Given the description of an element on the screen output the (x, y) to click on. 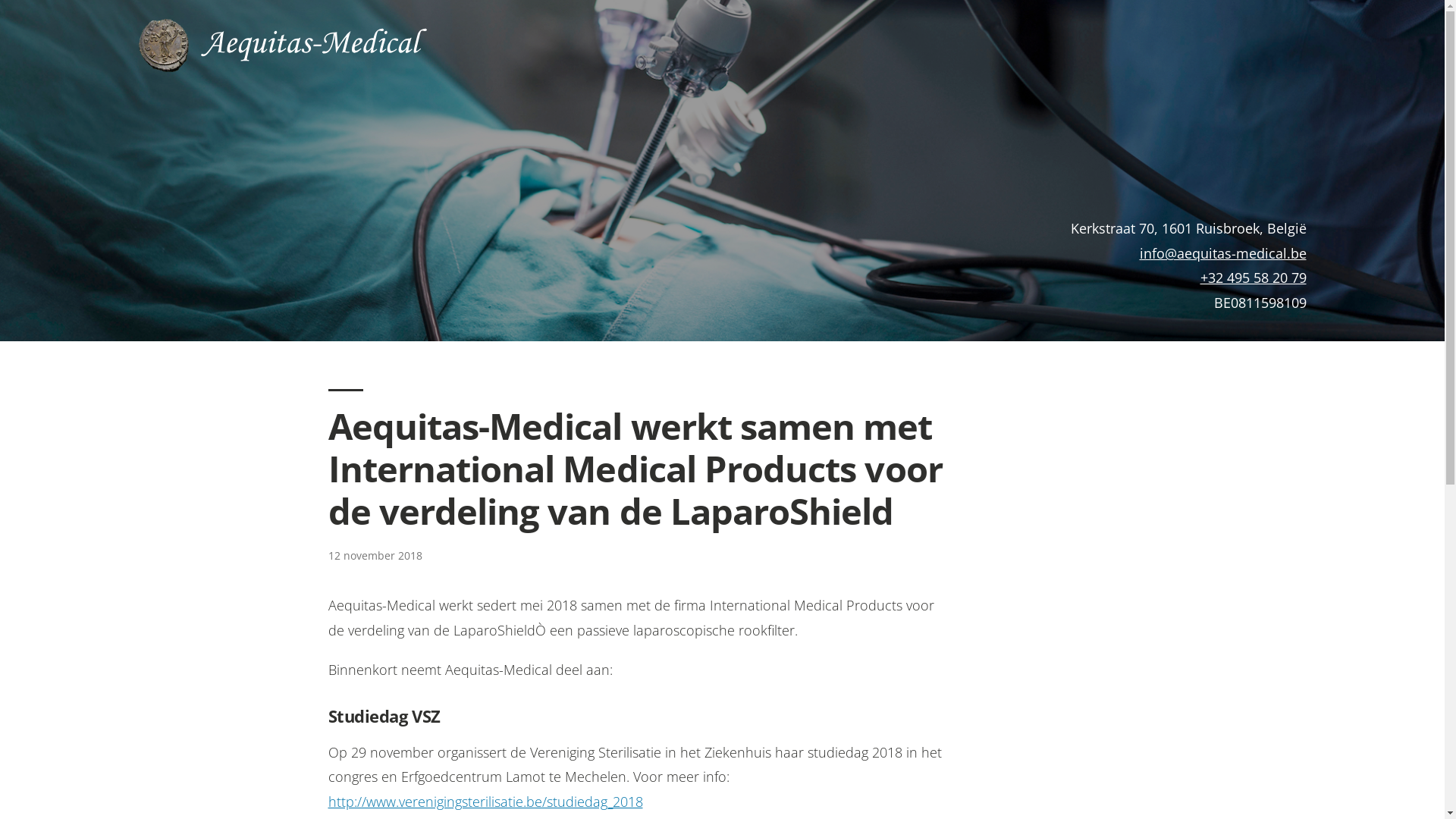
Aequitas-Medical Element type: text (313, 43)
info@aequitas-medical.be Element type: text (1222, 253)
12 november 2018 Element type: text (374, 555)
http://www.verenigingsterilisatie.be/studiedag_2018 Element type: text (484, 801)
+32 495 58 20 79 Element type: text (1252, 277)
